Given the description of an element on the screen output the (x, y) to click on. 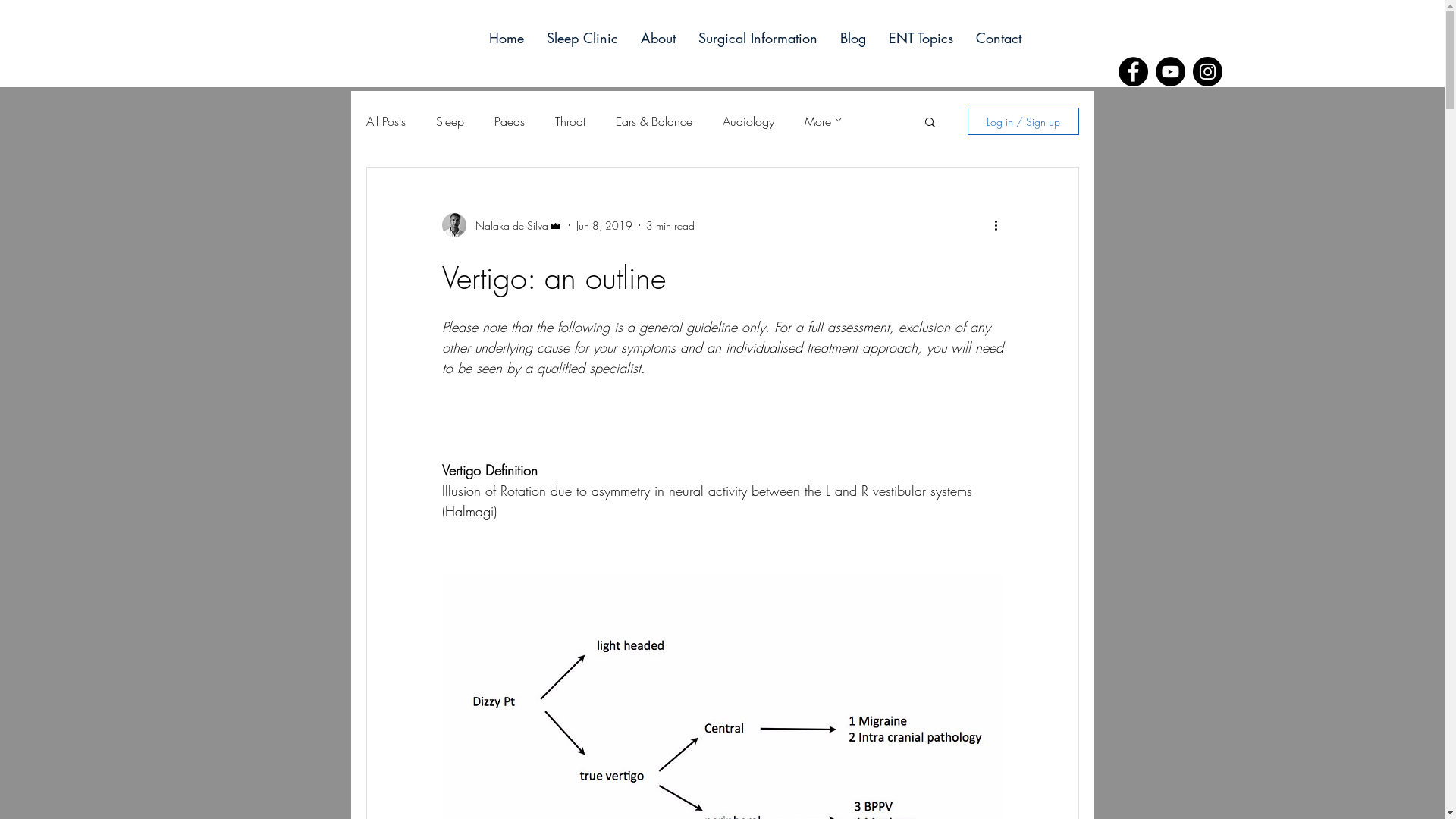
Home Element type: text (502, 37)
Contact Element type: text (994, 37)
Sleep Clinic Element type: text (577, 37)
Log in / Sign up Element type: text (1023, 120)
Paeds Element type: text (509, 120)
Blog Element type: text (849, 37)
Surgical Information Element type: text (753, 37)
Audiology Element type: text (747, 120)
About Element type: text (653, 37)
All Posts Element type: text (384, 120)
ENT Topics Element type: text (916, 37)
Throat Element type: text (570, 120)
Ears & Balance Element type: text (653, 120)
Sleep Element type: text (449, 120)
